Given the description of an element on the screen output the (x, y) to click on. 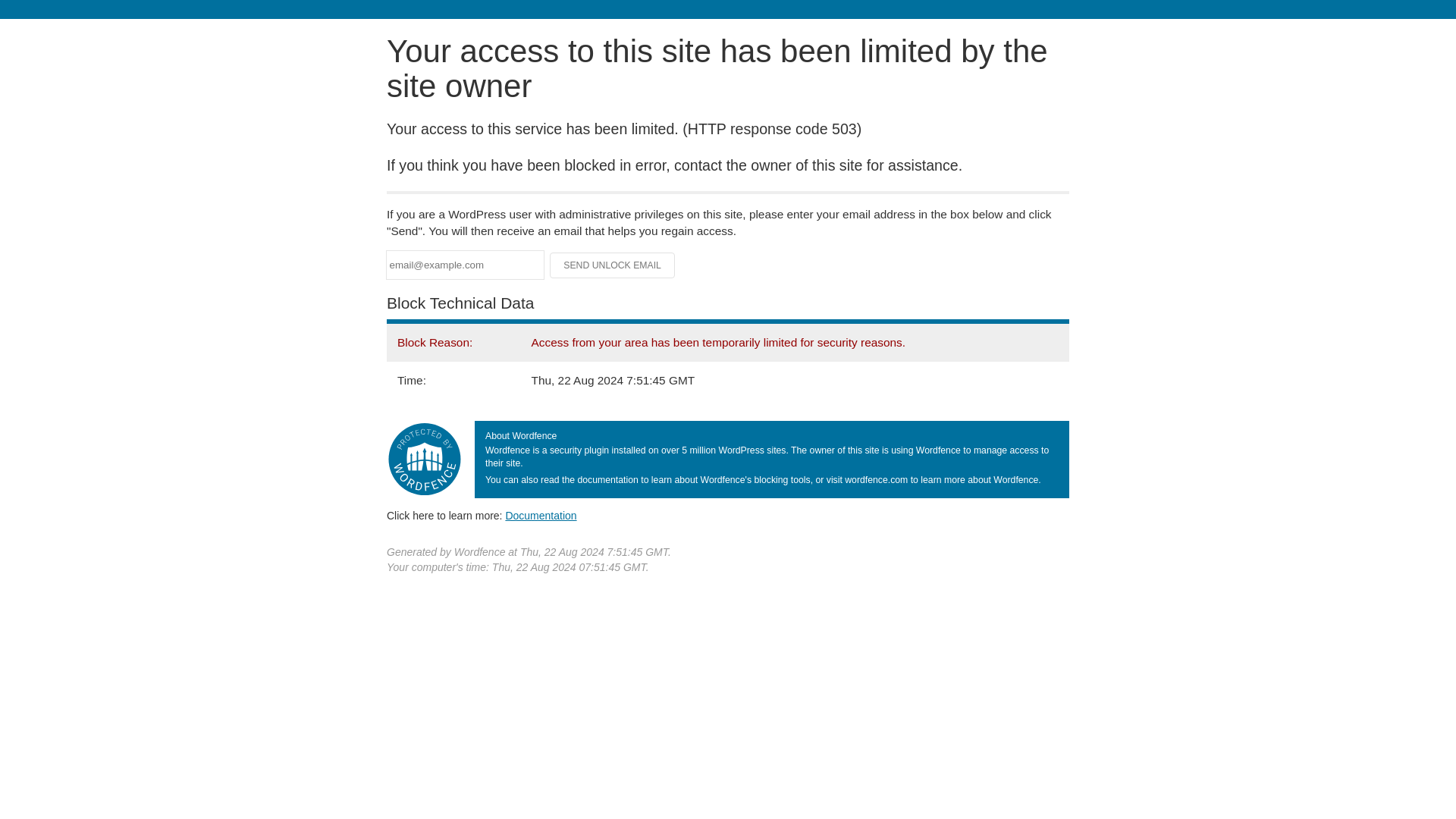
Send Unlock Email (612, 265)
Documentation (540, 515)
Send Unlock Email (612, 265)
